Given the description of an element on the screen output the (x, y) to click on. 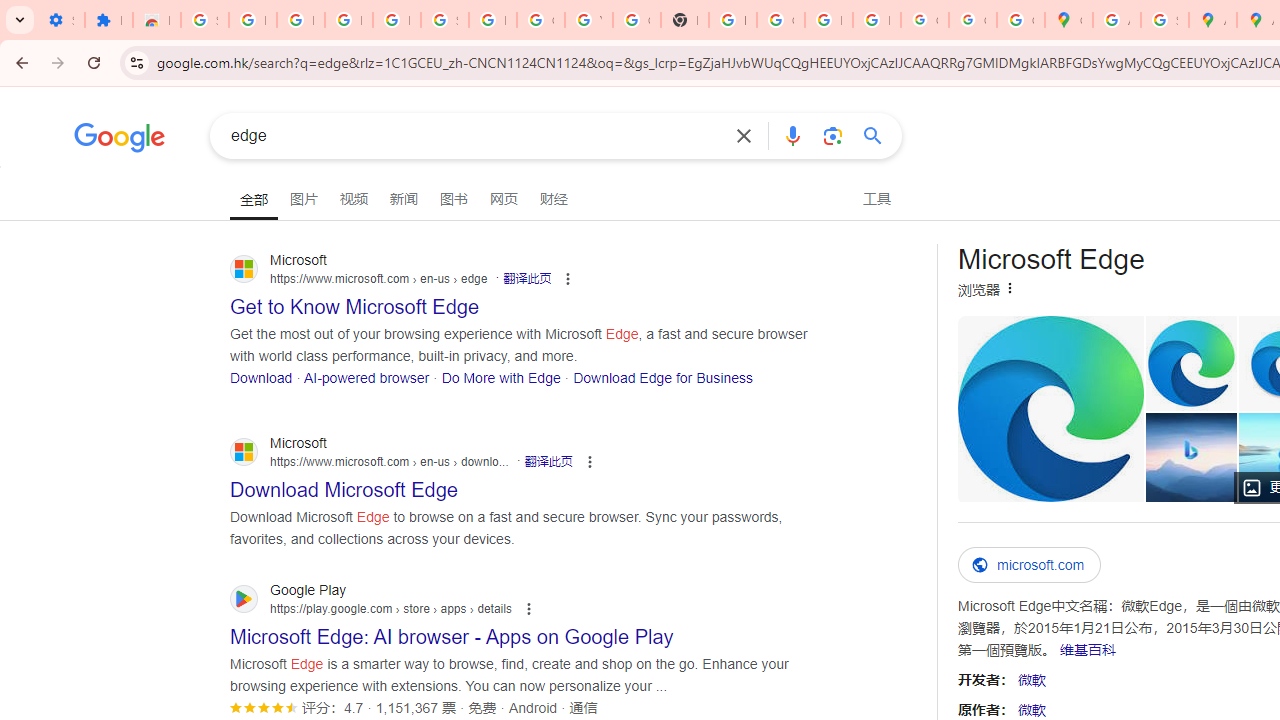
Reviews: Helix Fruit Jump Arcade Game (156, 20)
upload.wikimedia.org/wikipedia/commons/9/98/Micros... (1050, 408)
Microsoft Edge help & learning (1190, 457)
Google Maps (1068, 20)
YouTube (588, 20)
Download (261, 376)
Safety in Our Products - Google Safety Center (1164, 20)
Sign in - Google Accounts (444, 20)
